Given the description of an element on the screen output the (x, y) to click on. 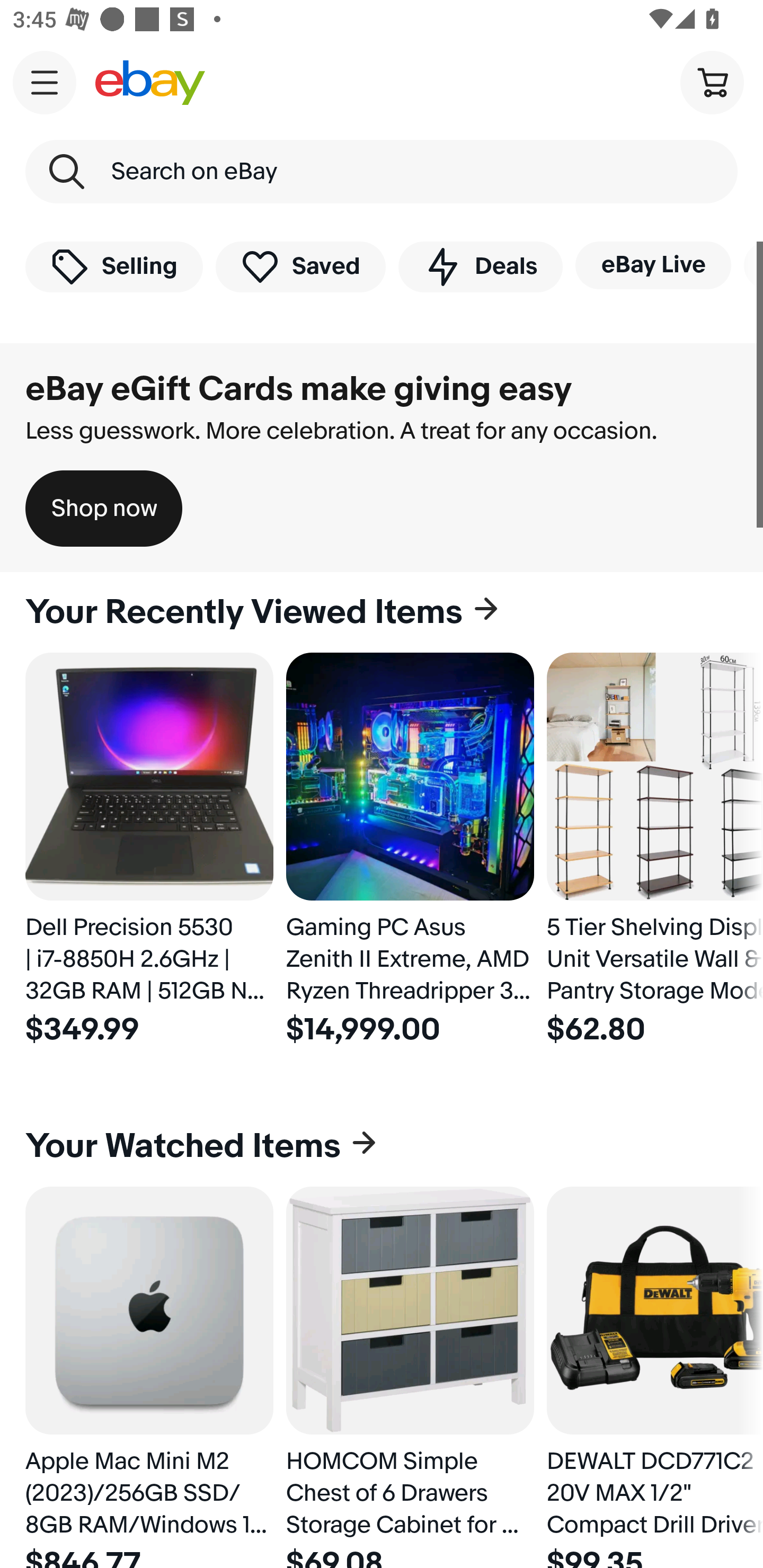
Main navigation, open (44, 82)
Cart button shopping cart (711, 81)
Search on eBay Search Keyword Search on eBay (381, 171)
Selling (113, 266)
Saved (300, 266)
Deals (480, 266)
eBay Live (652, 264)
eBay eGift Cards make giving easy (298, 389)
Shop now (103, 508)
Your Recently Viewed Items   (381, 612)
Your Watched Items   (381, 1145)
